Given the description of an element on the screen output the (x, y) to click on. 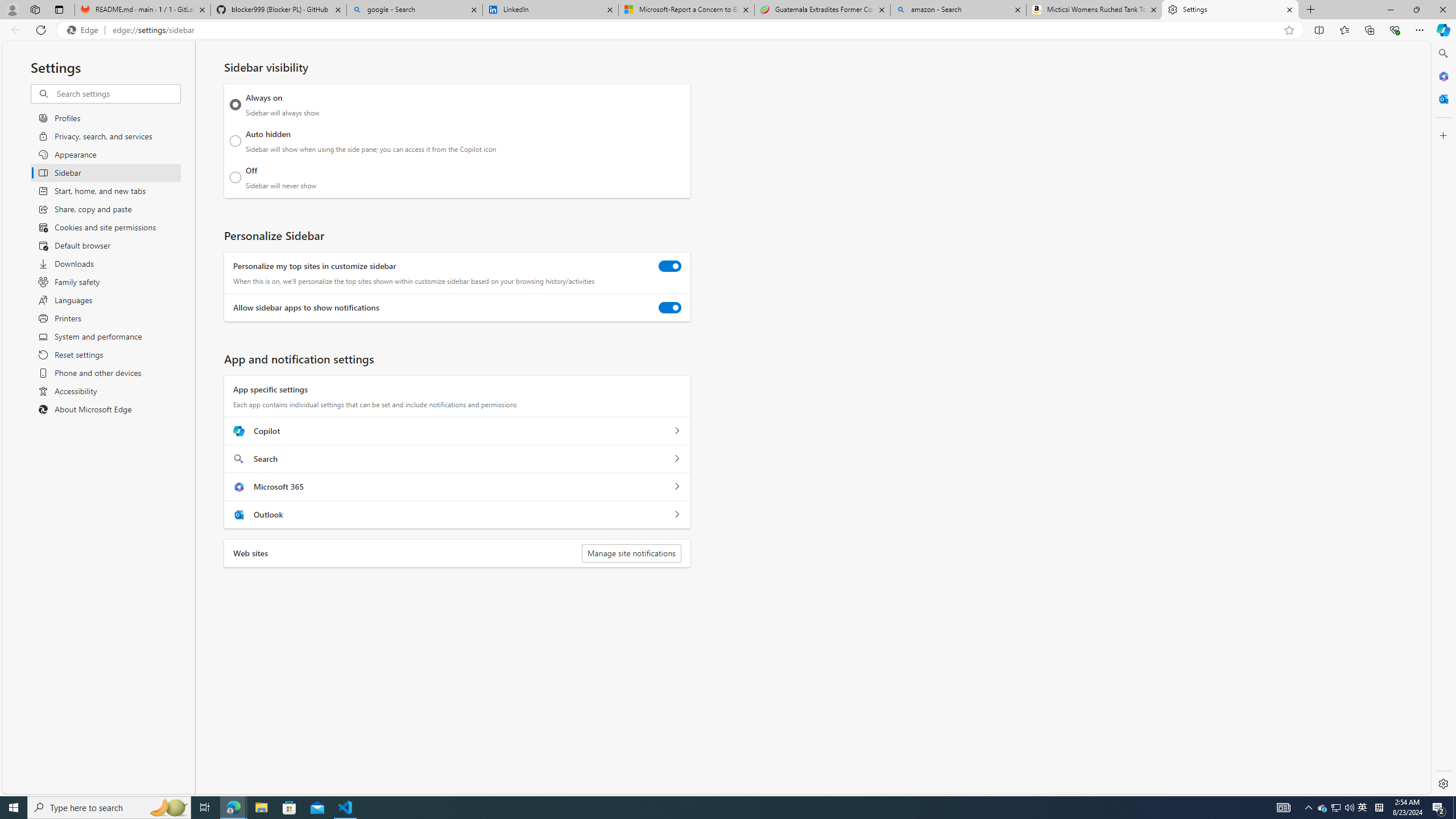
Personalize my top sites in customize sidebar (669, 265)
Always on Sidebar will always show (235, 104)
